Given the description of an element on the screen output the (x, y) to click on. 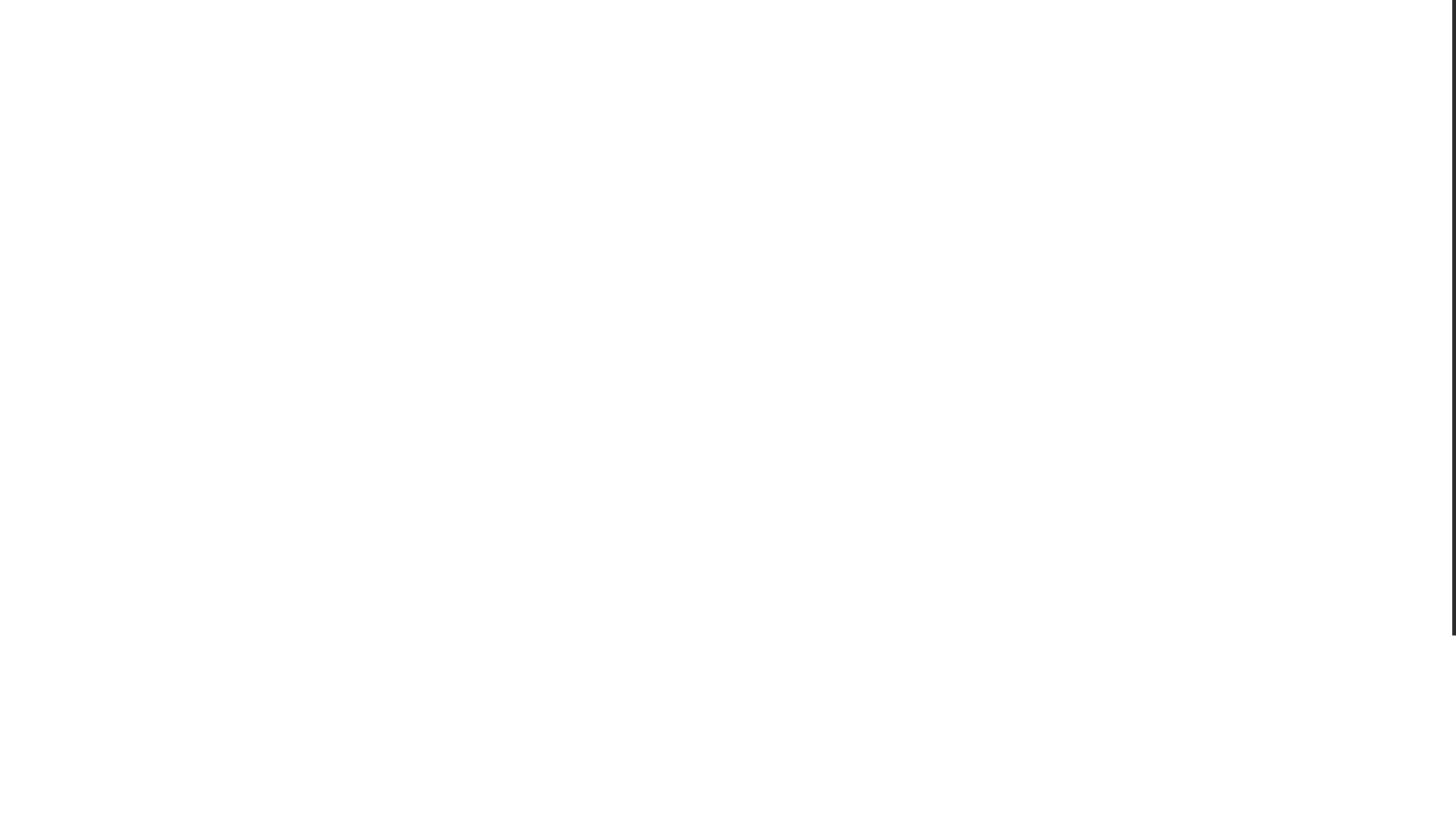
Shinmei Element type: text (254, 352)
SERVICE & SUPPORTS Element type: text (691, 74)
HOME Element type: text (398, 74)
DETAILS Element type: text (263, 470)
PRODUCTS Element type: text (471, 74)
ABOUT US Element type: text (908, 74)
EGG Packaging System Solu... Element type: text (328, 385)
NEWS & EVENT Element type: text (816, 74)
INDUSTRIES Element type: text (568, 74)
+8801717665798
Call Us Anytime Element type: text (1139, 75)
CONTACT US Element type: text (993, 74)
